Given the description of an element on the screen output the (x, y) to click on. 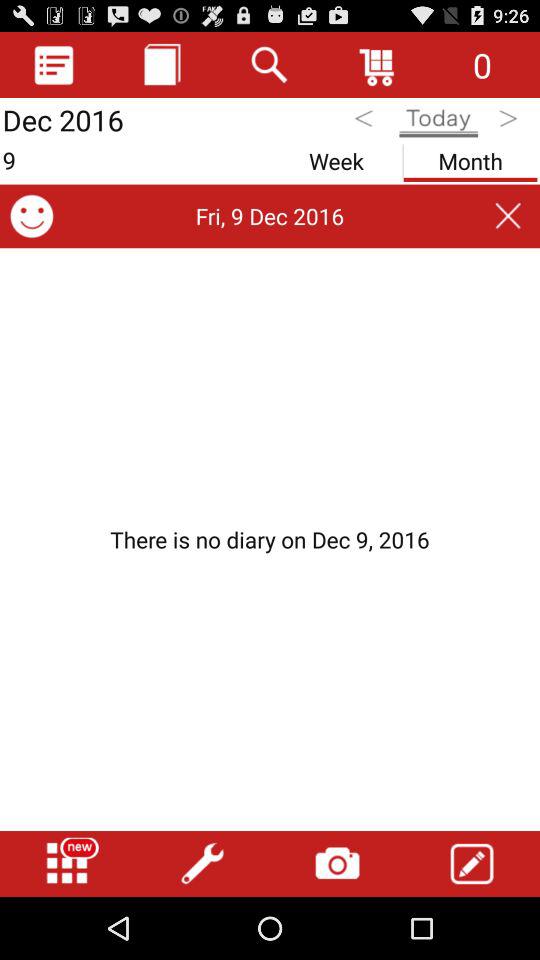
launch app next to 9 item (336, 157)
